Given the description of an element on the screen output the (x, y) to click on. 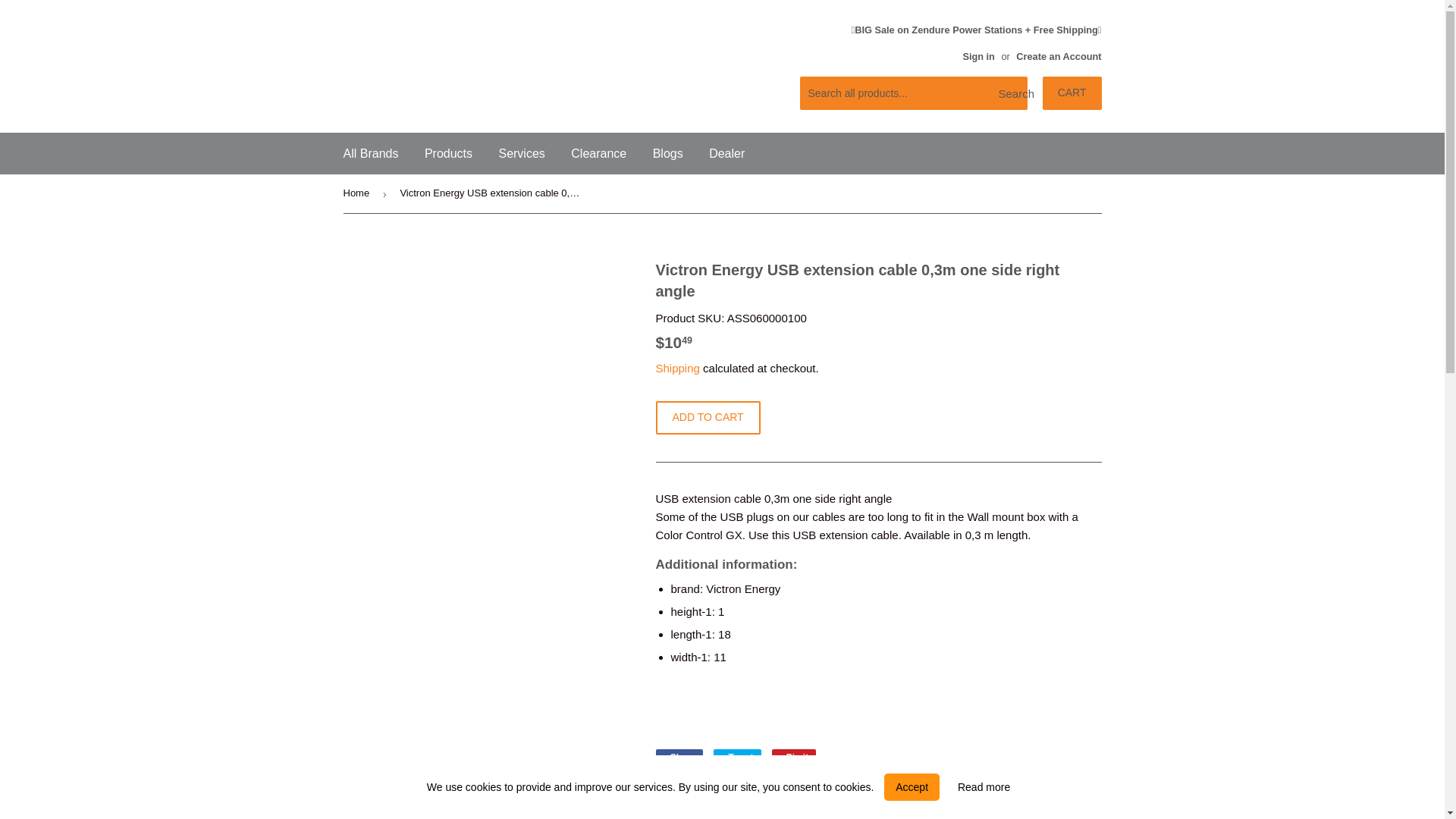
Read more (984, 786)
Share on Facebook (679, 757)
CART (1072, 92)
Tweet on Twitter (736, 757)
Search (1009, 93)
Sign in (978, 56)
Pin on Pinterest (793, 757)
Create an Account (1058, 56)
Accept (911, 786)
